Given the description of an element on the screen output the (x, y) to click on. 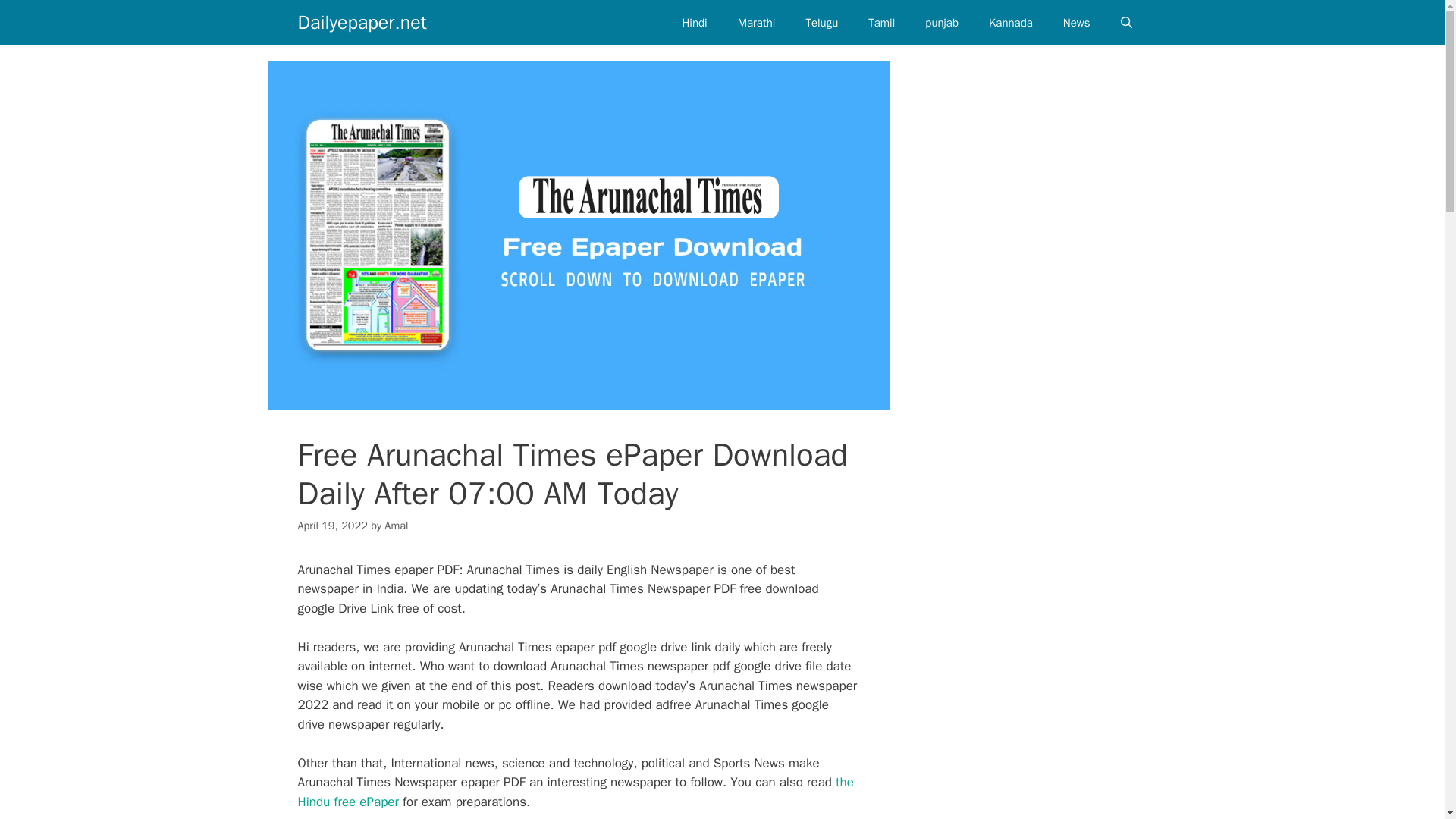
Amal (395, 525)
Dailyepaper.net (361, 22)
punjab (942, 22)
Tamil (881, 22)
Marathi (756, 22)
View all posts by Amal (395, 525)
Telugu (821, 22)
Kannada (1011, 22)
the Hindu free ePaper (575, 791)
News (1076, 22)
